Given the description of an element on the screen output the (x, y) to click on. 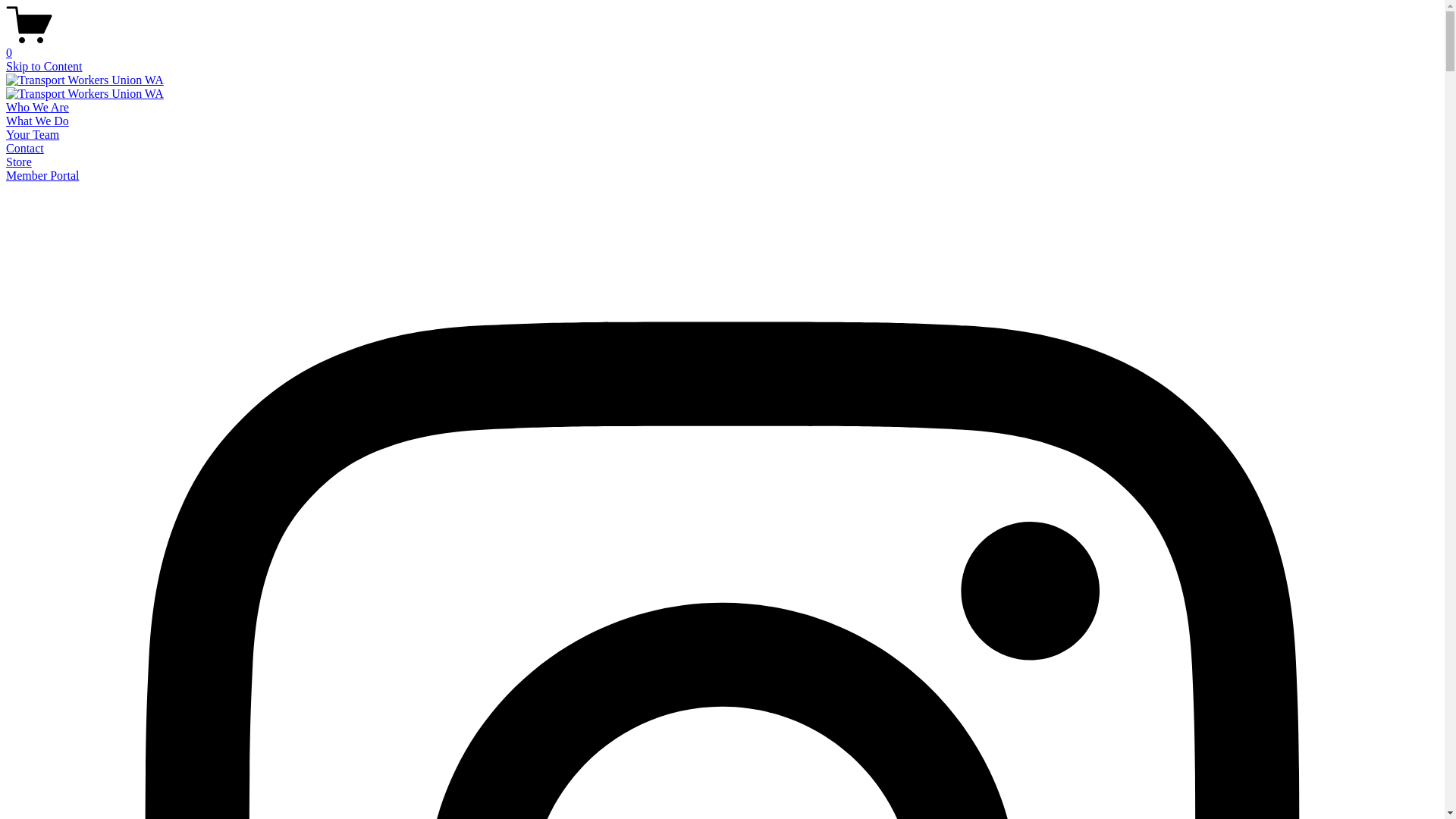
0 Element type: text (722, 45)
Who We Are Element type: text (37, 106)
Member Portal Element type: text (42, 175)
Skip to Content Element type: text (43, 65)
Store Element type: text (18, 161)
Contact Element type: text (24, 147)
Your Team Element type: text (32, 134)
What We Do Element type: text (37, 120)
